Given the description of an element on the screen output the (x, y) to click on. 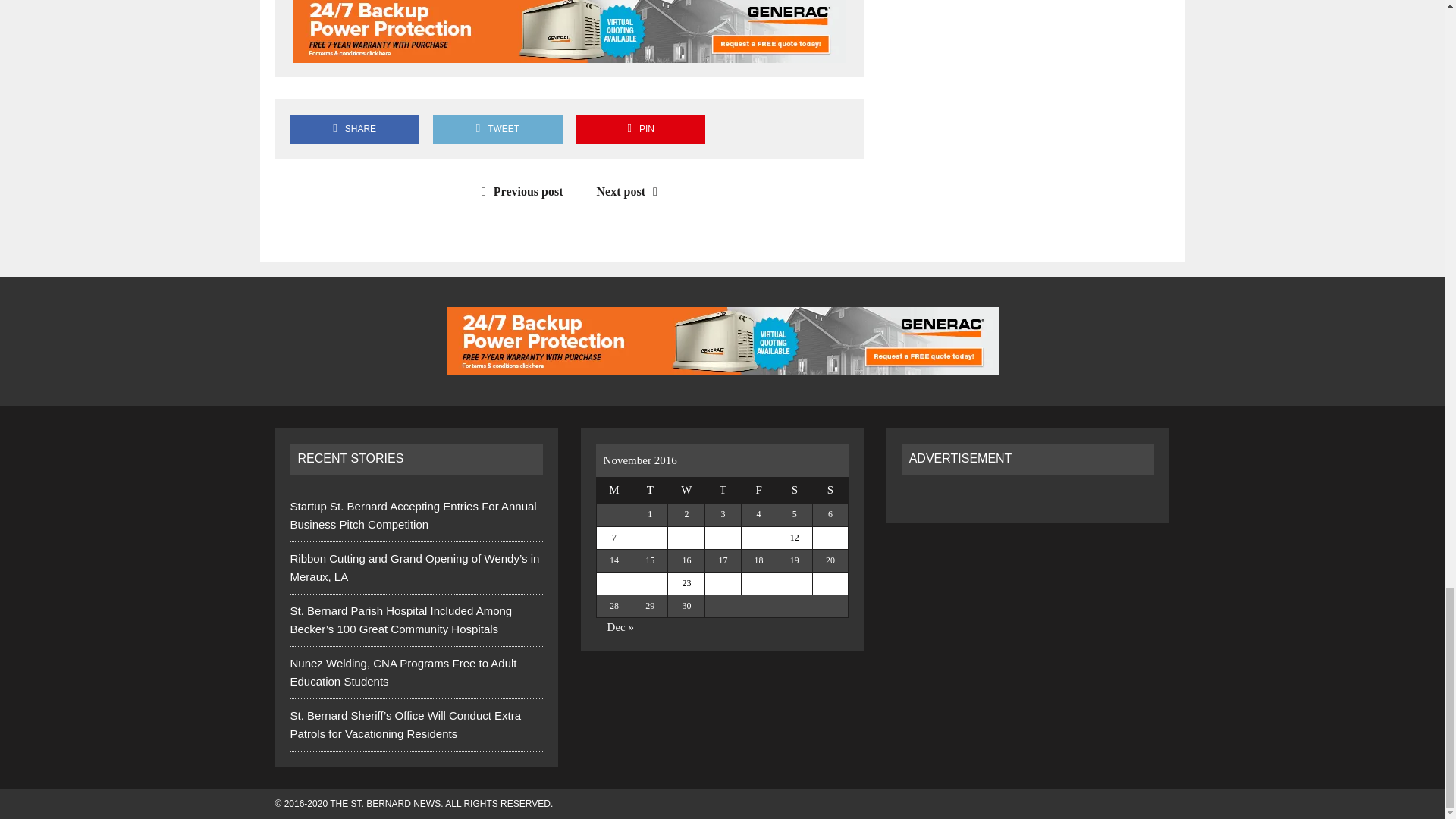
Tweet This Post (497, 129)
Share on Facebook (354, 129)
Pin This Post (640, 129)
